Given the description of an element on the screen output the (x, y) to click on. 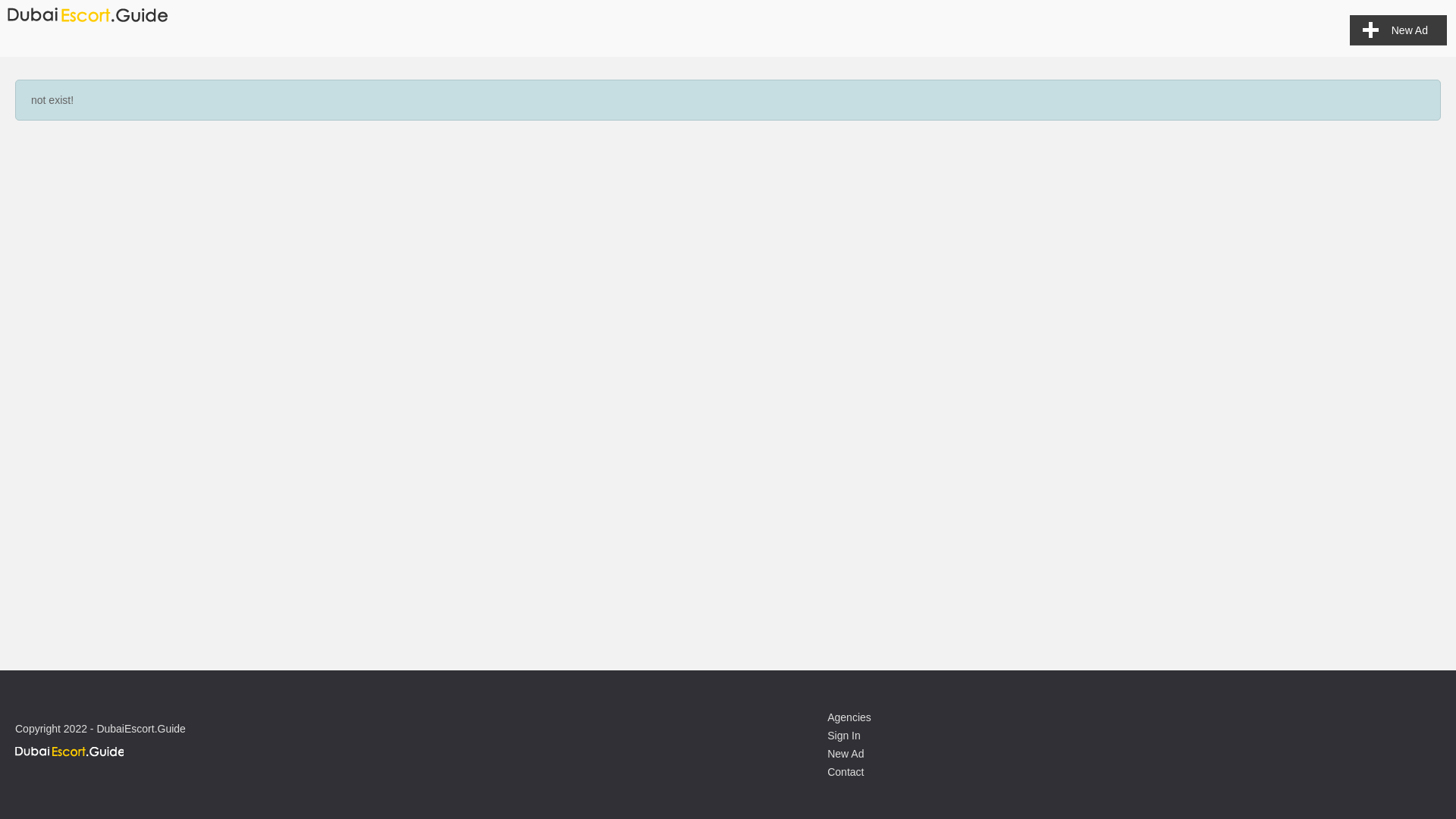
Agencies (848, 717)
Sign In (843, 735)
New Ad (845, 753)
New Ad (1398, 30)
Contact (845, 771)
